Given the description of an element on the screen output the (x, y) to click on. 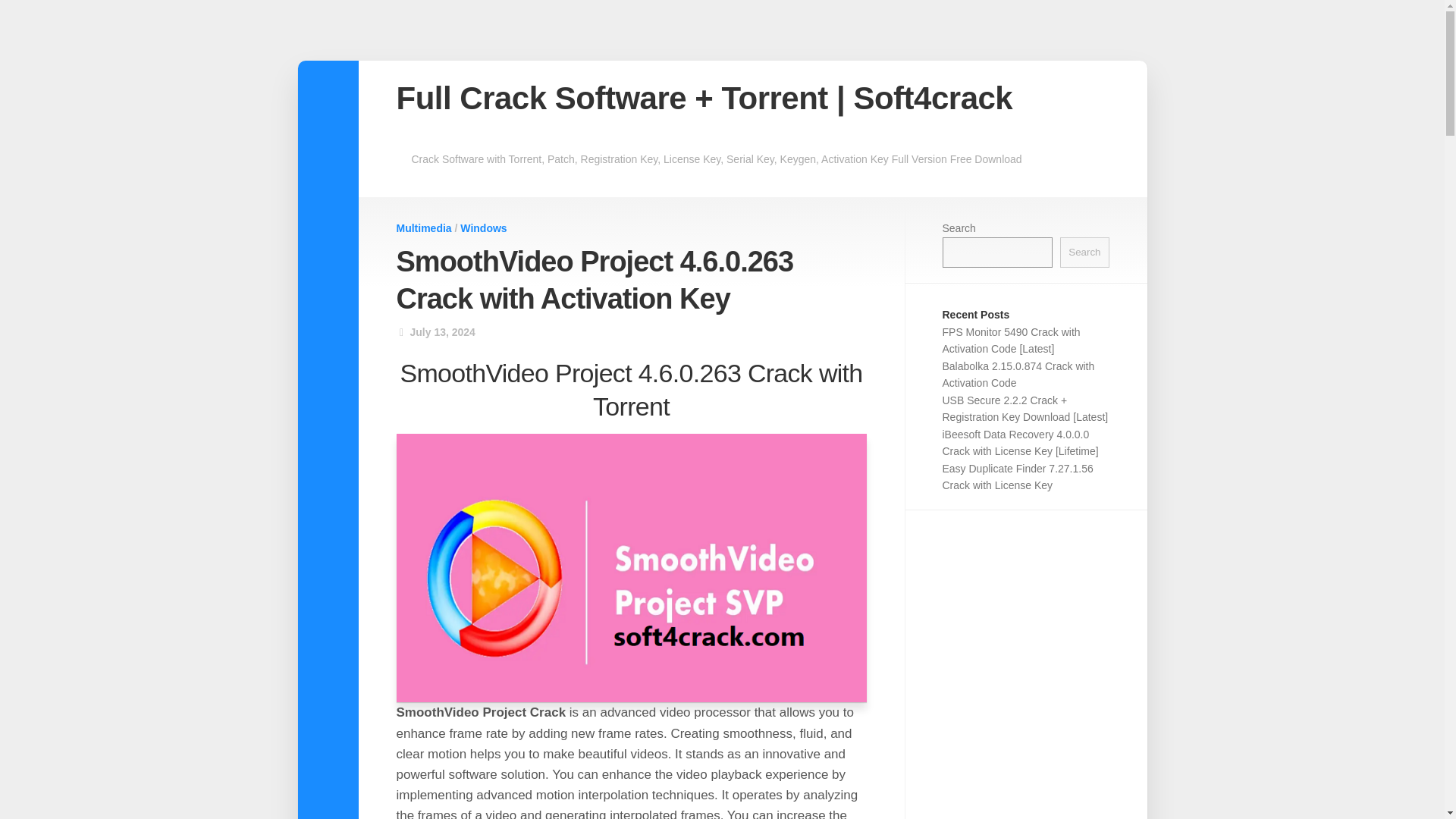
Easy Duplicate Finder 7.27.1.56 Crack with License Key (1017, 477)
Multimedia (423, 227)
Search (1083, 251)
Balabolka 2.15.0.874 Crack with Activation Code (1018, 374)
Windows (483, 227)
